Given the description of an element on the screen output the (x, y) to click on. 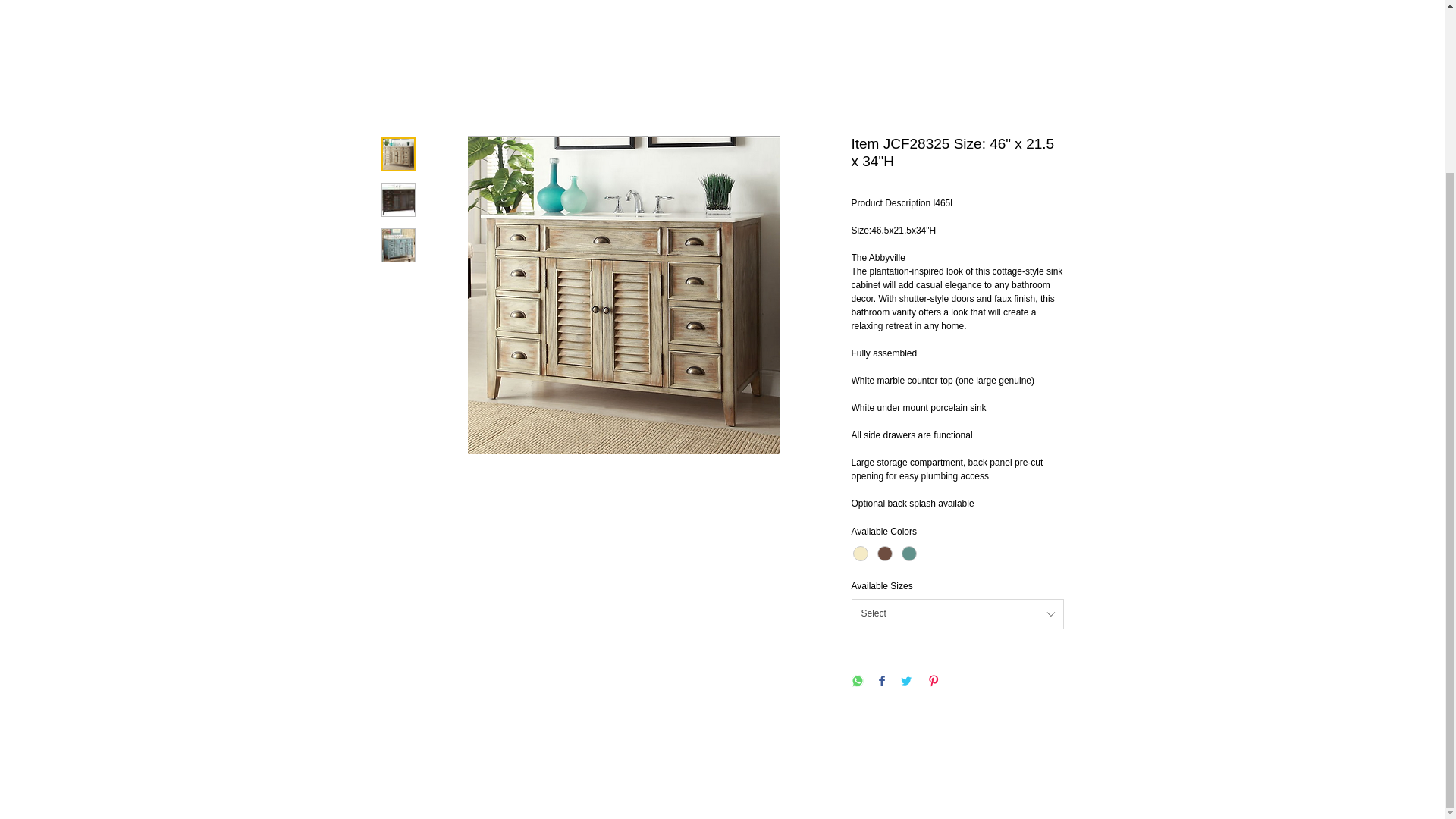
Select (956, 613)
